Given the description of an element on the screen output the (x, y) to click on. 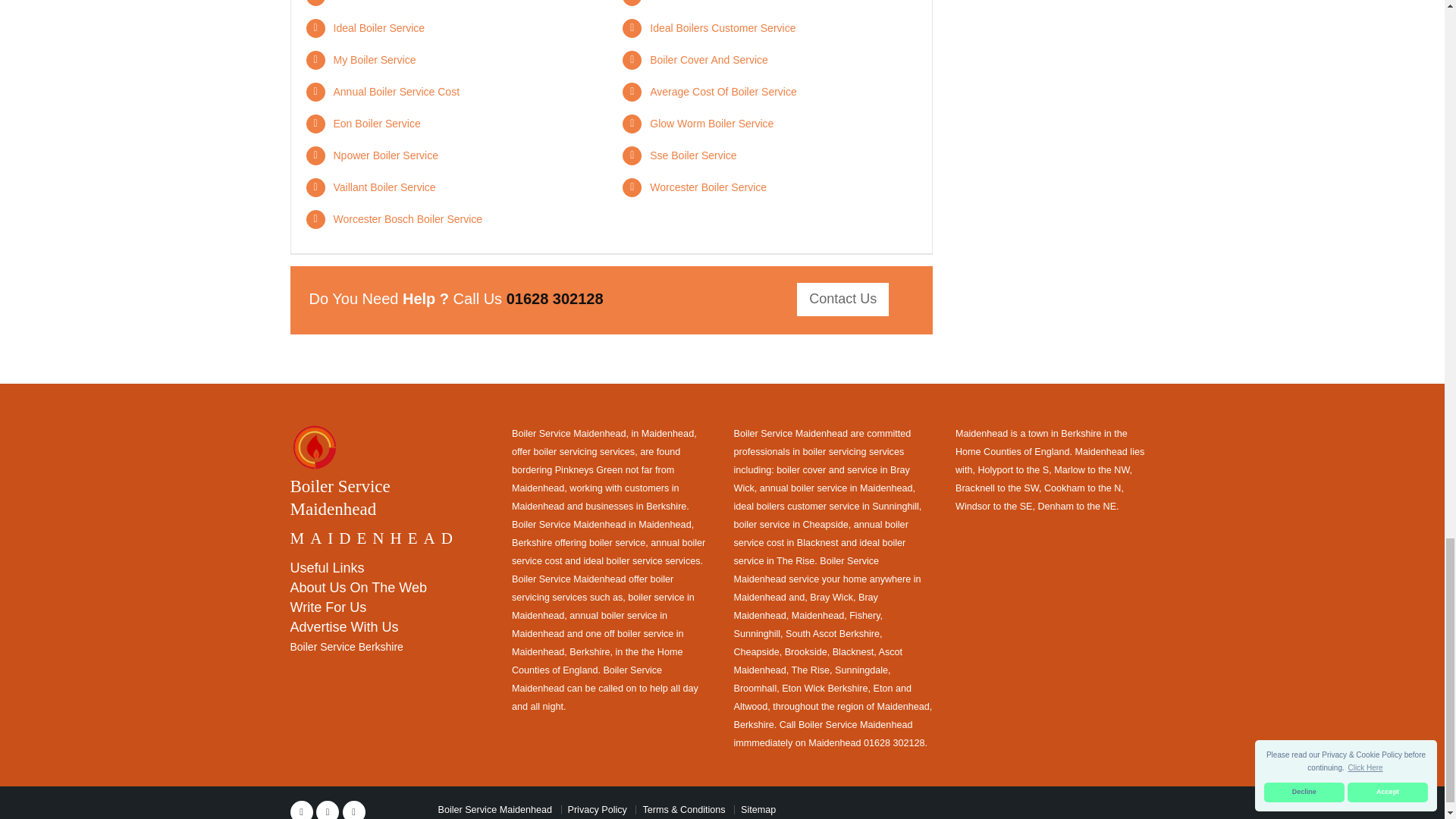
Facebook (301, 809)
Linkedin (353, 809)
Twitter (327, 809)
